Given the description of an element on the screen output the (x, y) to click on. 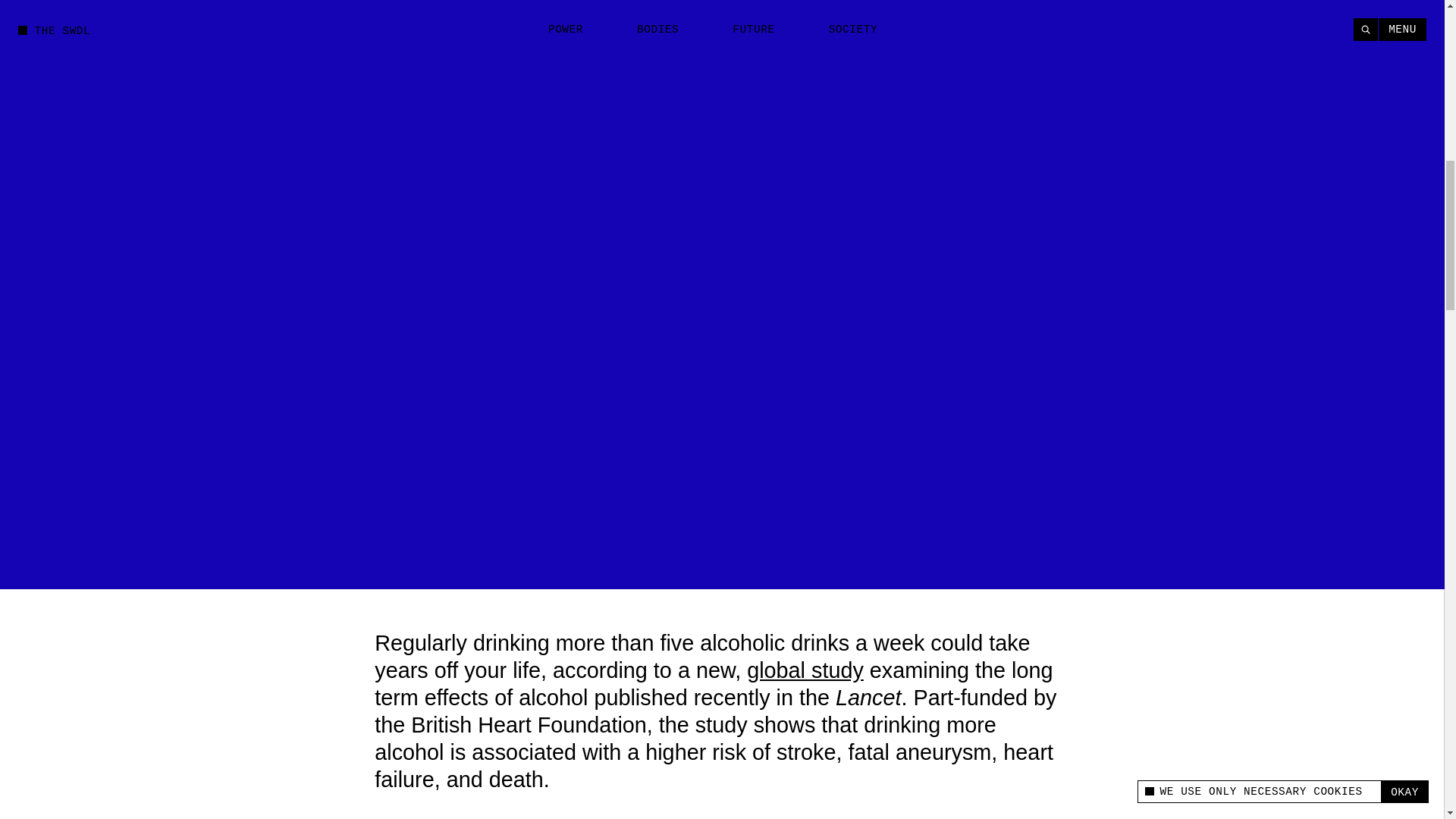
global study (804, 670)
